Given the description of an element on the screen output the (x, y) to click on. 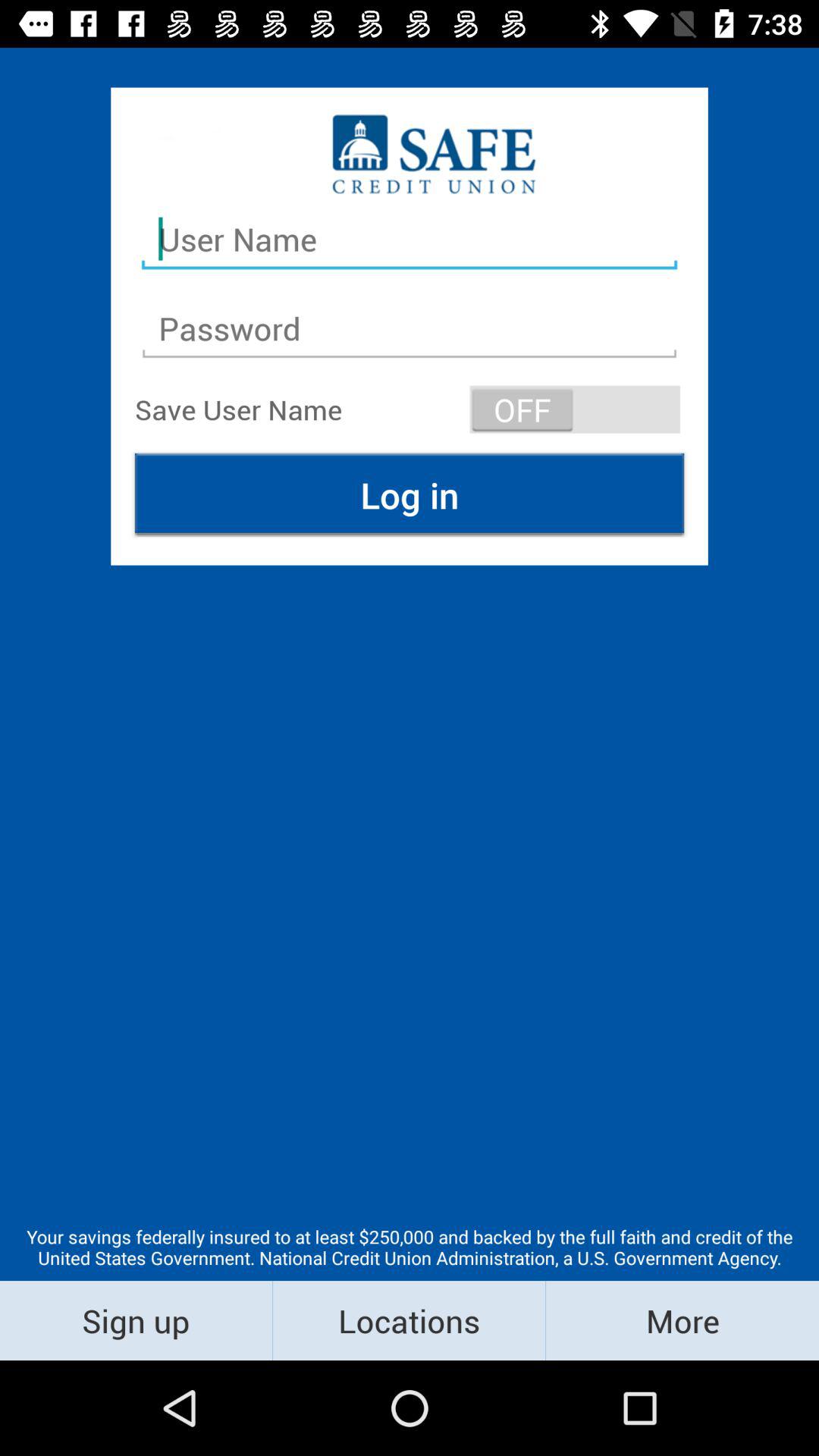
turn off icon at the center (409, 494)
